Given the description of an element on the screen output the (x, y) to click on. 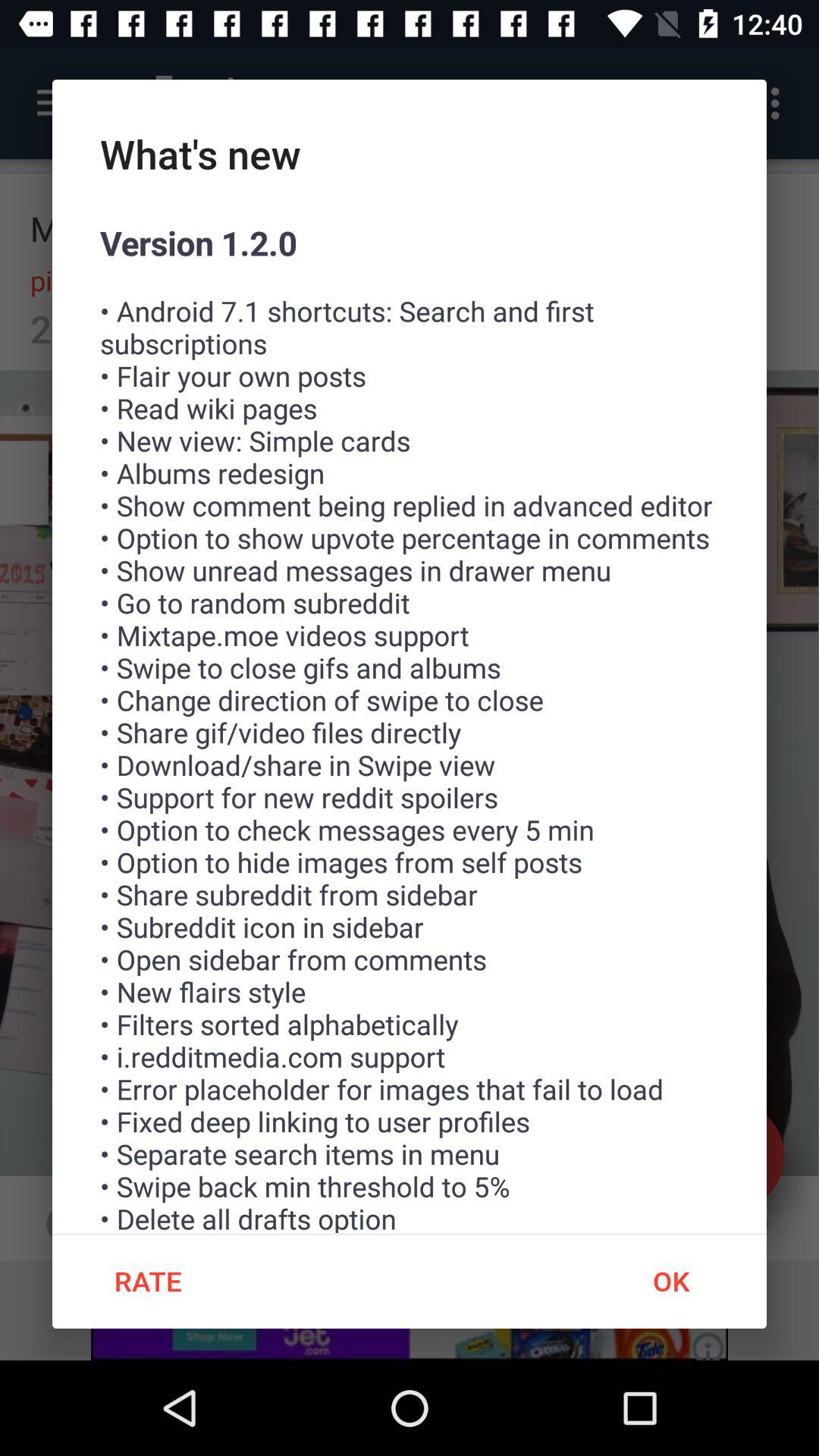
flip until the ok icon (670, 1280)
